Given the description of an element on the screen output the (x, y) to click on. 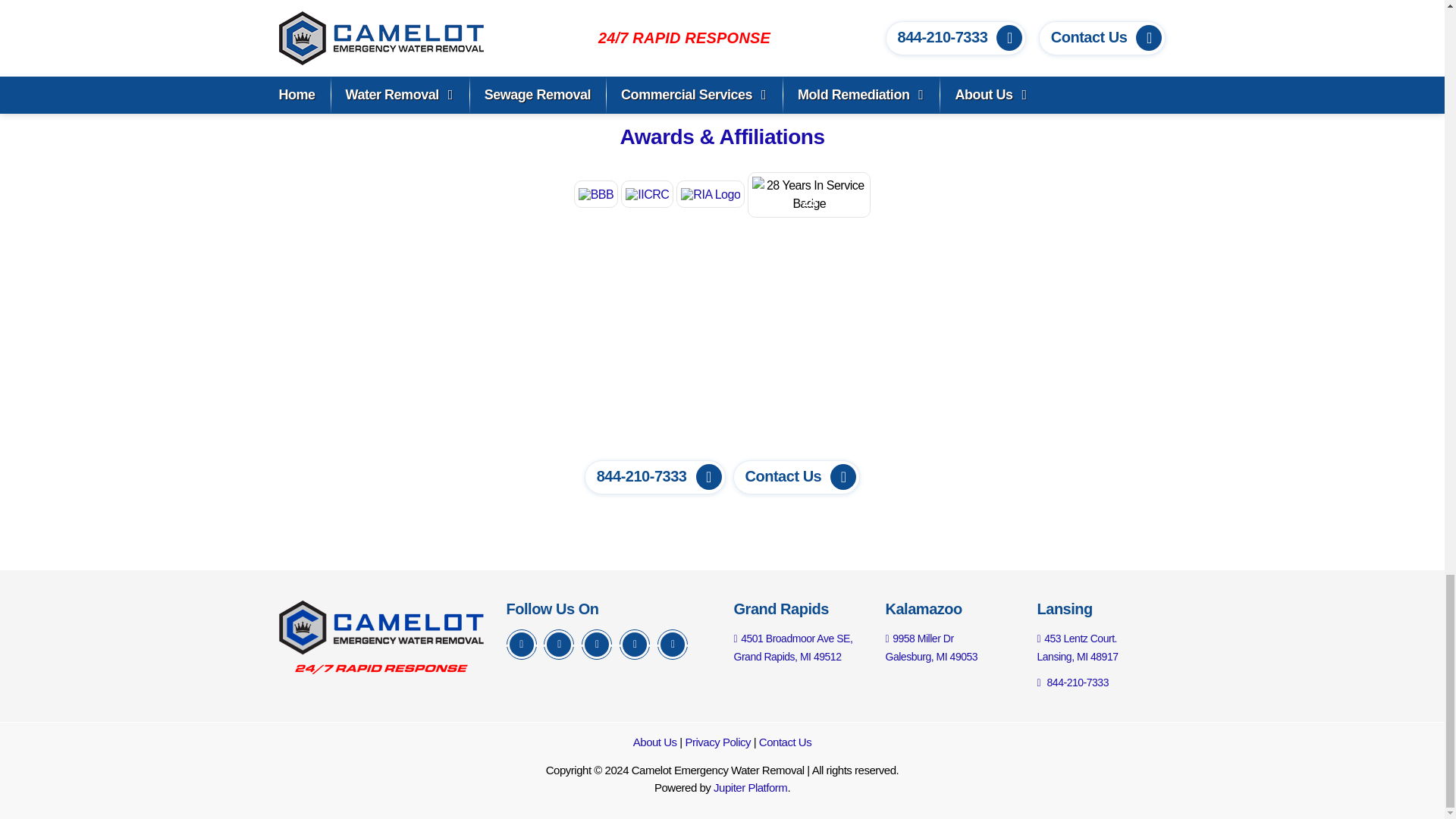
View us on Google Map (1077, 647)
View us on Google Map (793, 647)
View Our Youtube Page (672, 644)
View Our Linkedin Page (595, 644)
View Our Twitter Page (558, 644)
Call Us Now (1072, 682)
View us on Google Map (931, 647)
View Our Yelp Page (634, 644)
View Our facebook Page (521, 644)
